Given the description of an element on the screen output the (x, y) to click on. 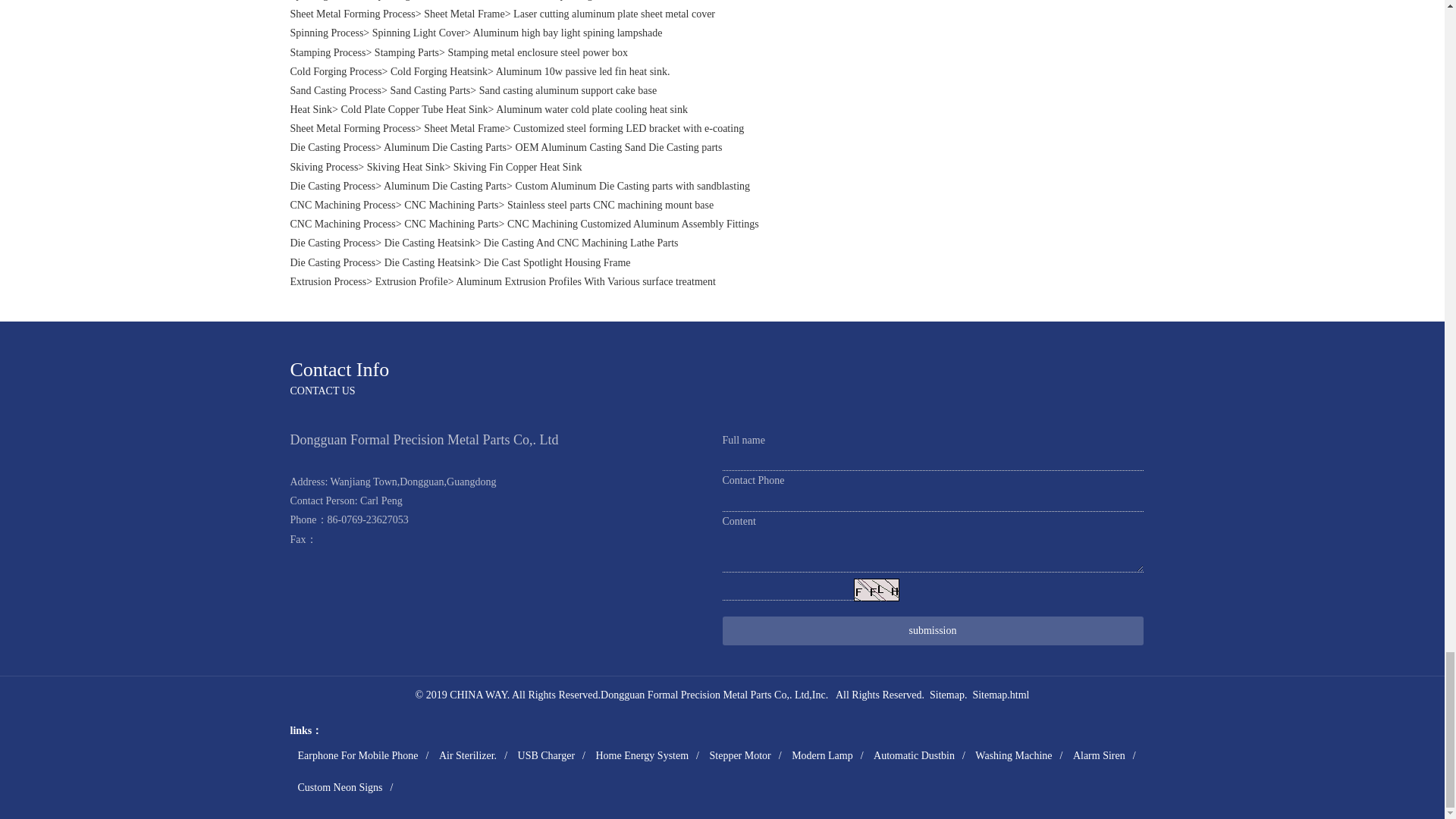
submission (932, 630)
